Given the description of an element on the screen output the (x, y) to click on. 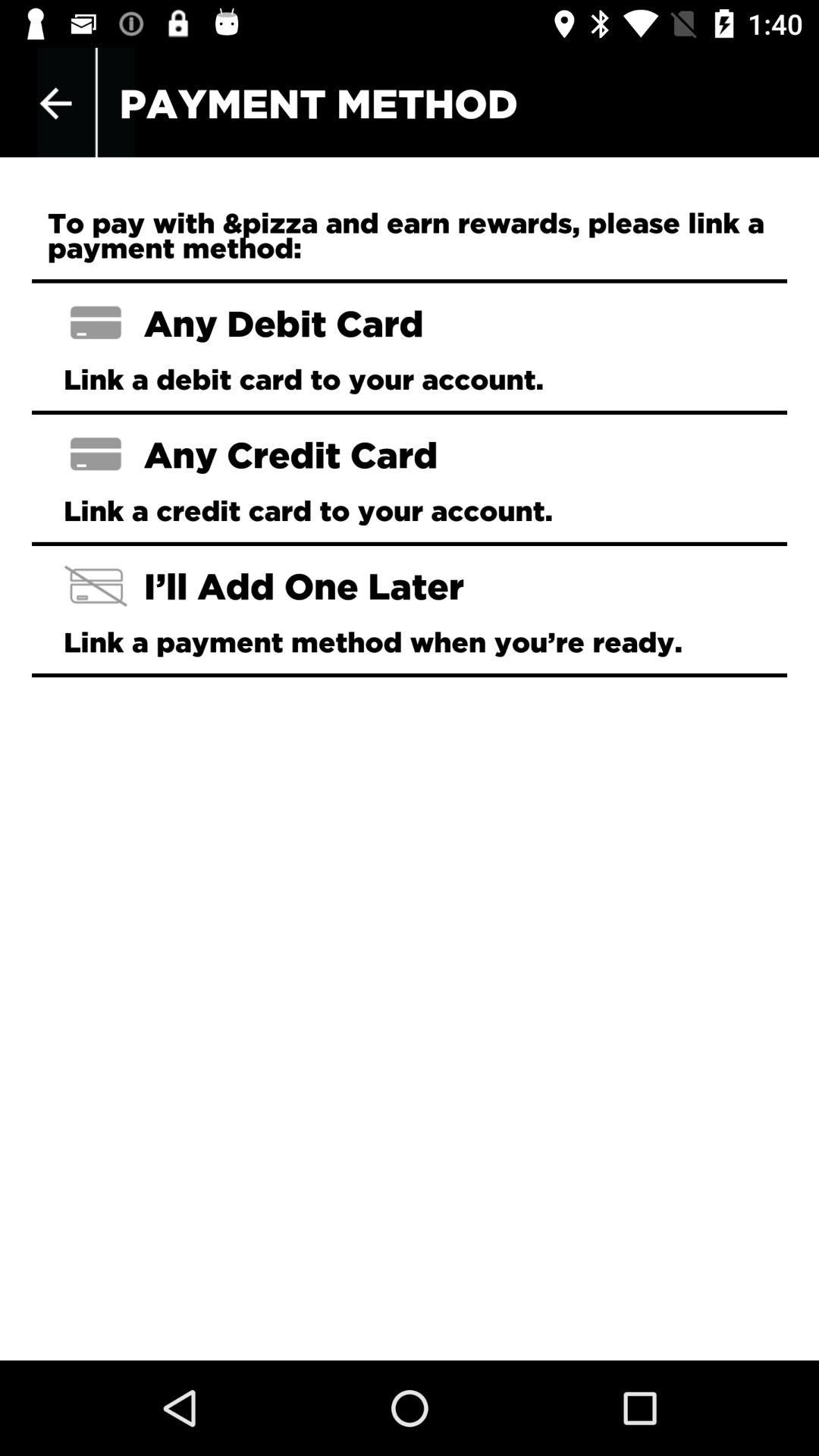
open the item at the top left corner (55, 103)
